Given the description of an element on the screen output the (x, y) to click on. 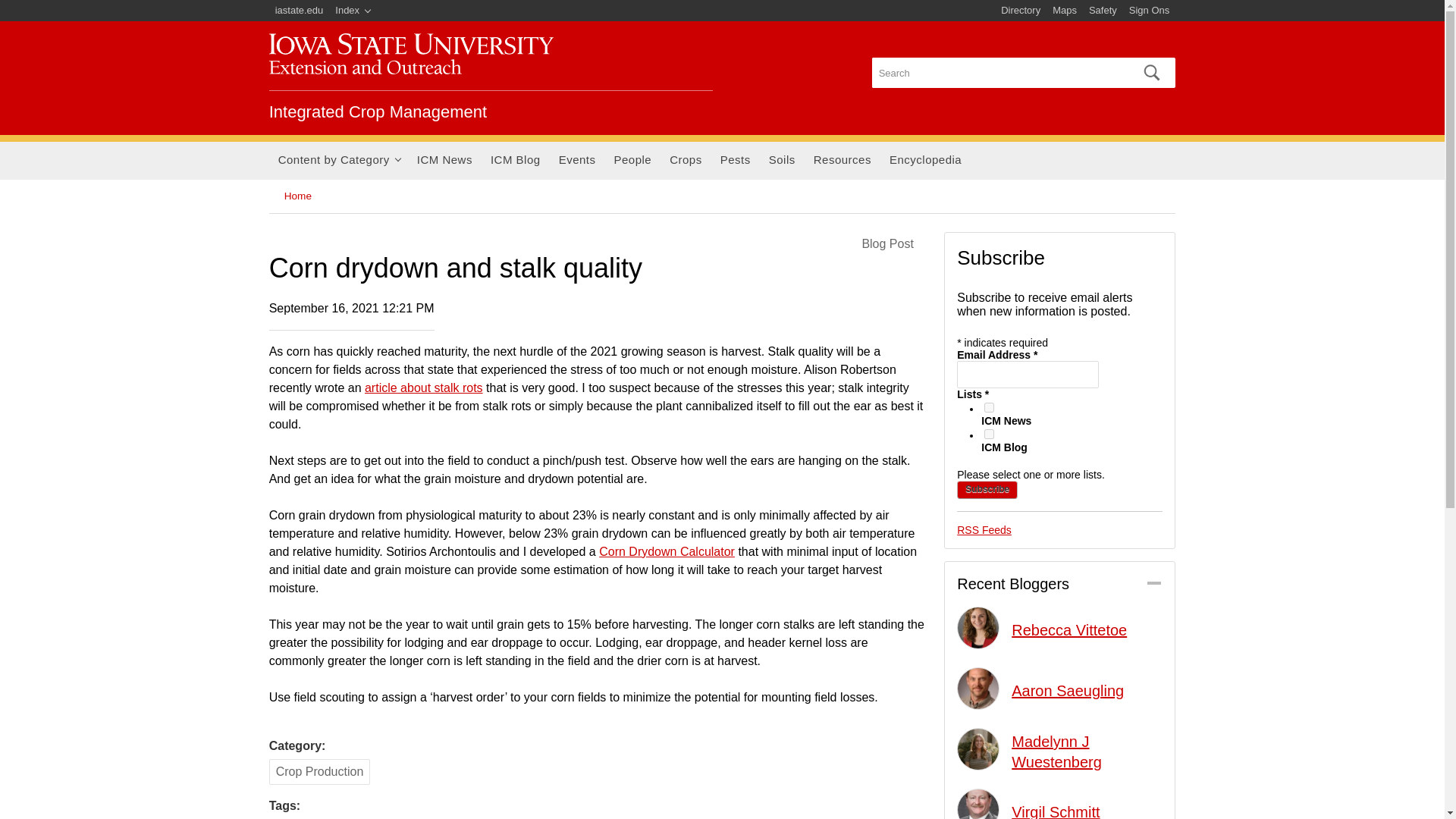
iastate.edu (299, 10)
Subscribe (986, 489)
Directory (1020, 10)
Skip to main content (685, 1)
Maps (1064, 10)
Enter the terms you wish to search for. (998, 72)
Iowa State University Home Page (299, 10)
Integrated Crop Management (411, 53)
Home (377, 111)
Safety (1102, 10)
Index (353, 10)
Integrated Crop Management (377, 111)
